Given the description of an element on the screen output the (x, y) to click on. 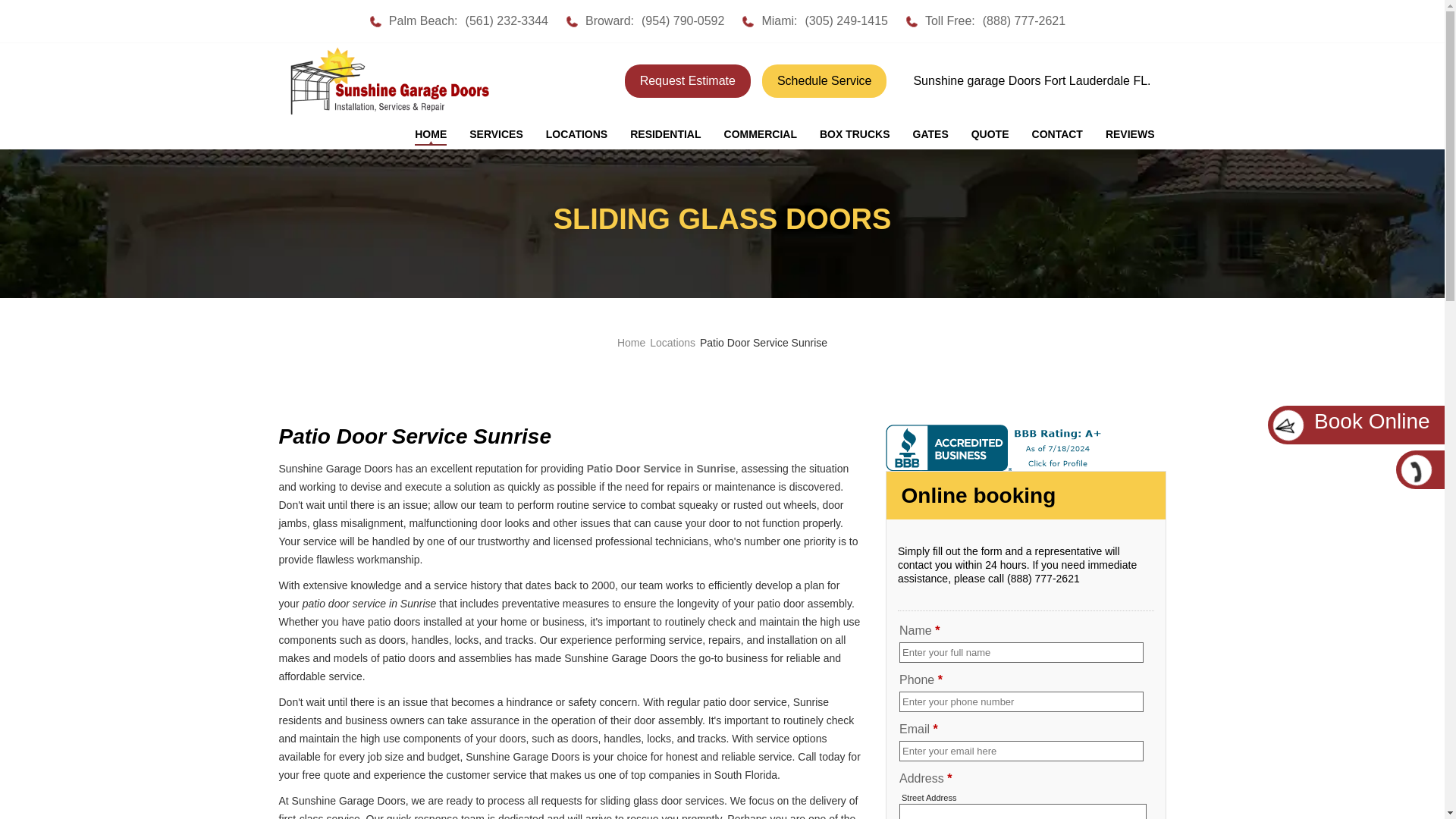
GATES (930, 133)
RESIDENTIAL (665, 133)
embedded form (1024, 673)
COMMERCIAL (759, 133)
HOME (430, 133)
QUOTE (990, 133)
SERVICES (495, 133)
CONTACT (1057, 133)
Schedule Service (823, 80)
BOX TRUCKS (854, 133)
Request Estimate (687, 80)
LOCATIONS (576, 133)
REVIEWS (1129, 133)
